Given the description of an element on the screen output the (x, y) to click on. 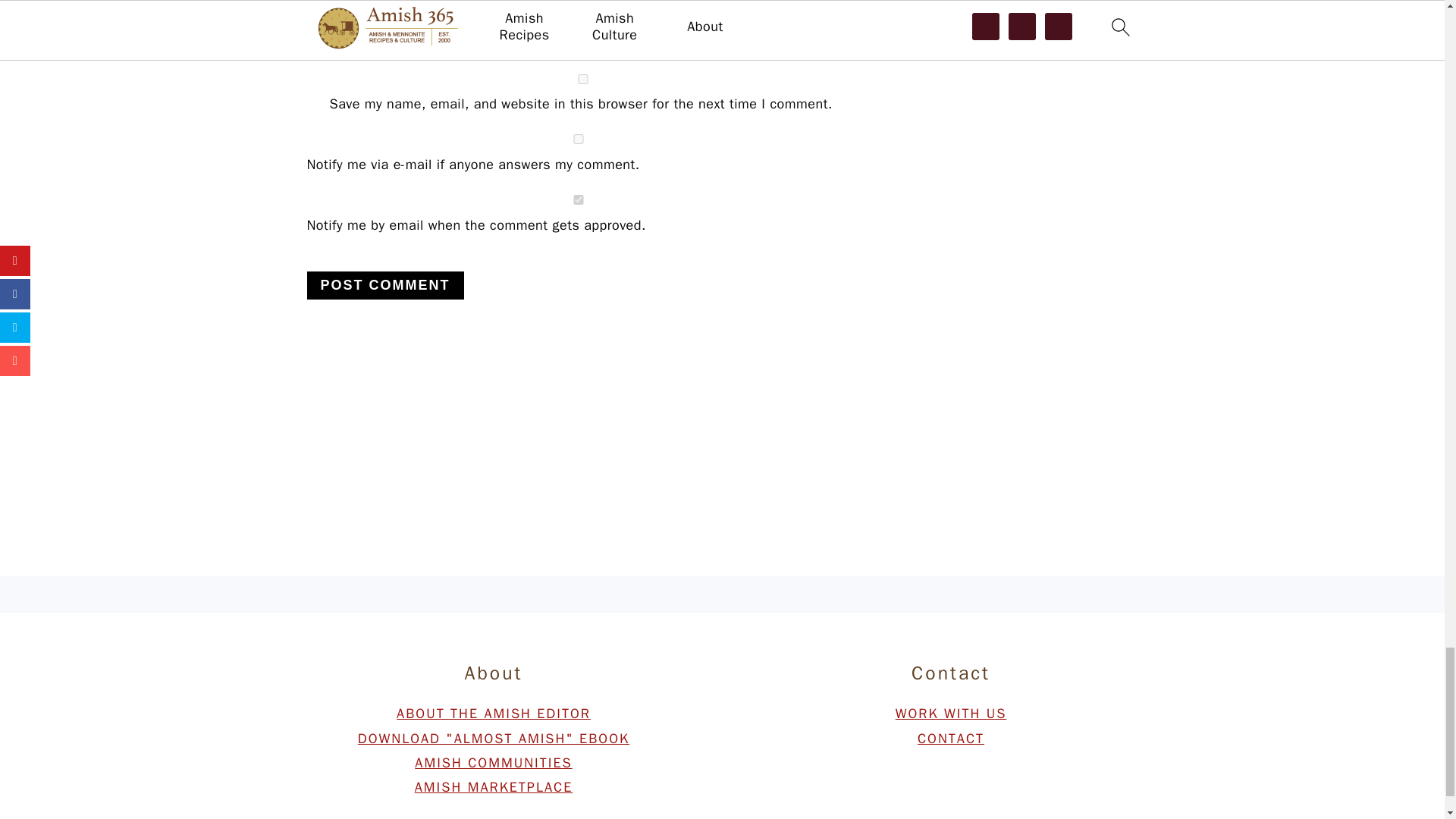
Post Comment (384, 285)
on (576, 139)
1 (576, 199)
yes (582, 79)
